Given the description of an element on the screen output the (x, y) to click on. 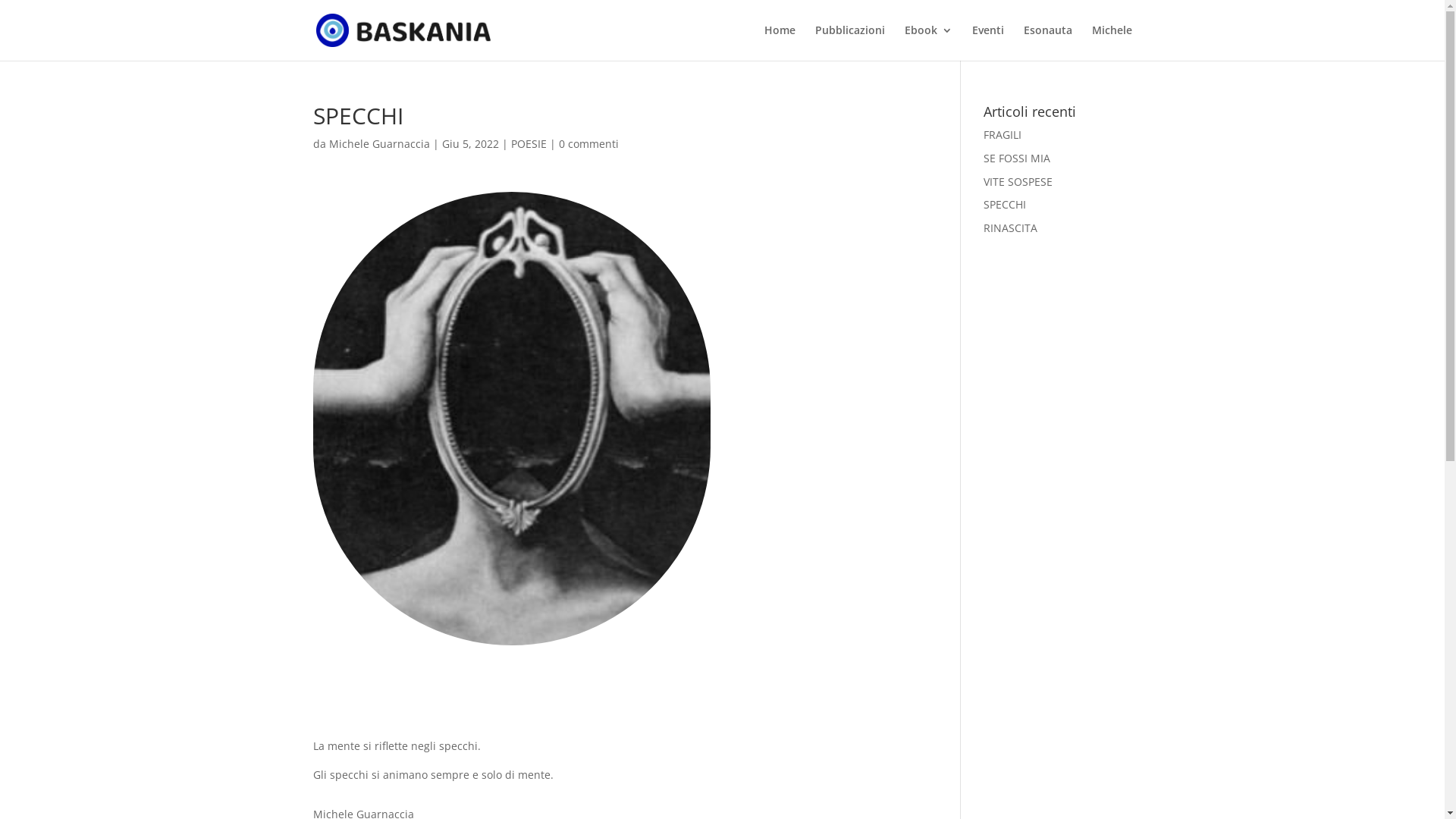
0 commenti Element type: text (588, 143)
FRAGILI Element type: text (1002, 134)
Esonauta Element type: text (1047, 42)
SPECCHI Element type: text (1004, 204)
Eventi Element type: text (988, 42)
POESIE Element type: text (528, 143)
Michele Element type: text (1112, 42)
Ebook Element type: text (927, 42)
Home Element type: text (779, 42)
SE FOSSI MIA Element type: text (1016, 157)
VITE SOSPESE Element type: text (1017, 181)
Pubblicazioni Element type: text (849, 42)
Michele Guarnaccia Element type: text (379, 143)
RINASCITA Element type: text (1010, 227)
